Given the description of an element on the screen output the (x, y) to click on. 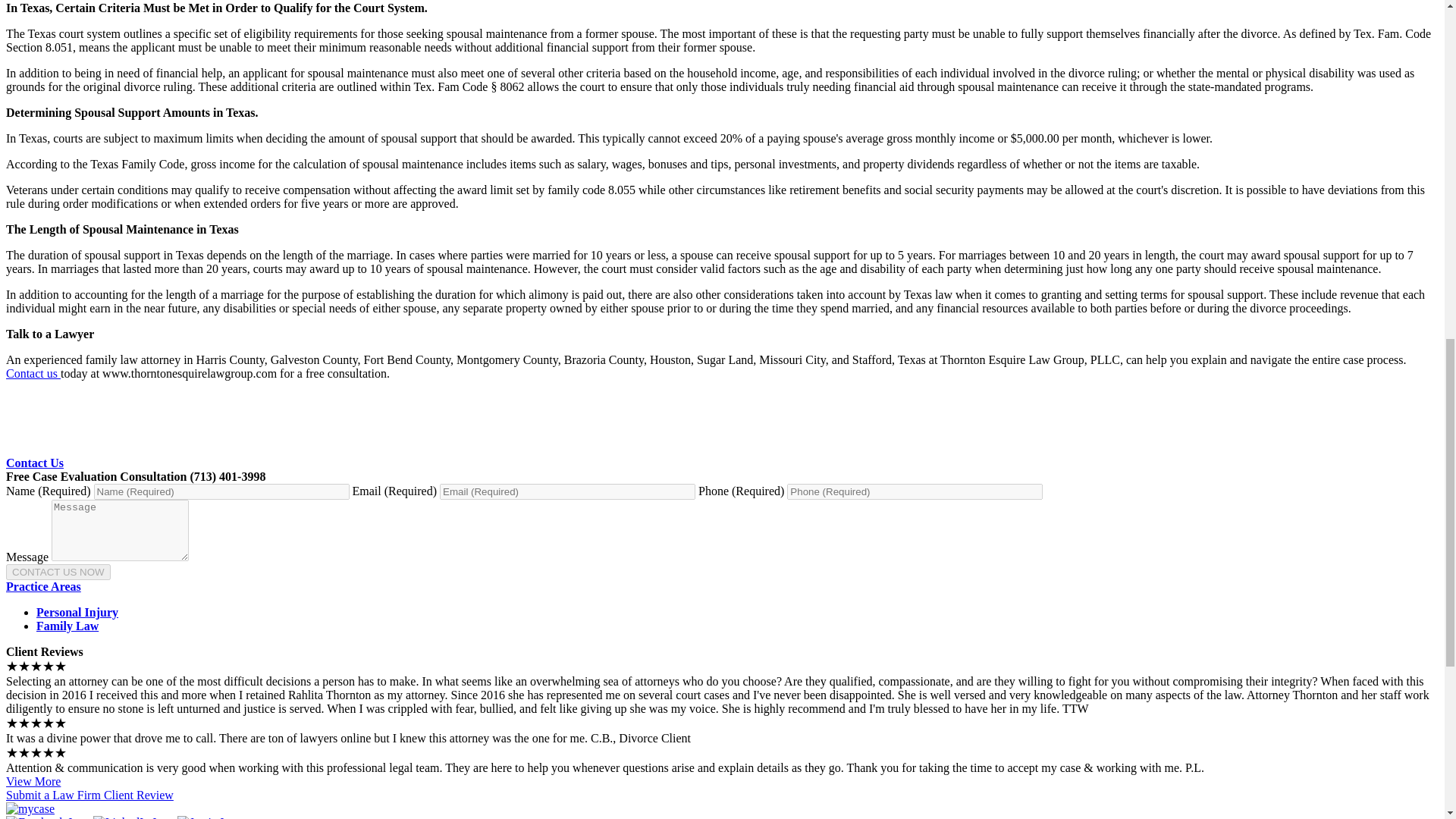
Facebook (47, 817)
Submit a Law Firm Client Review (89, 794)
Justia (209, 817)
View More (33, 780)
Personal Injury (76, 612)
Contact us (33, 373)
Practice Areas (43, 585)
LinkedIn (133, 817)
Contact Us (34, 462)
CONTACT US NOW (57, 571)
